Given the description of an element on the screen output the (x, y) to click on. 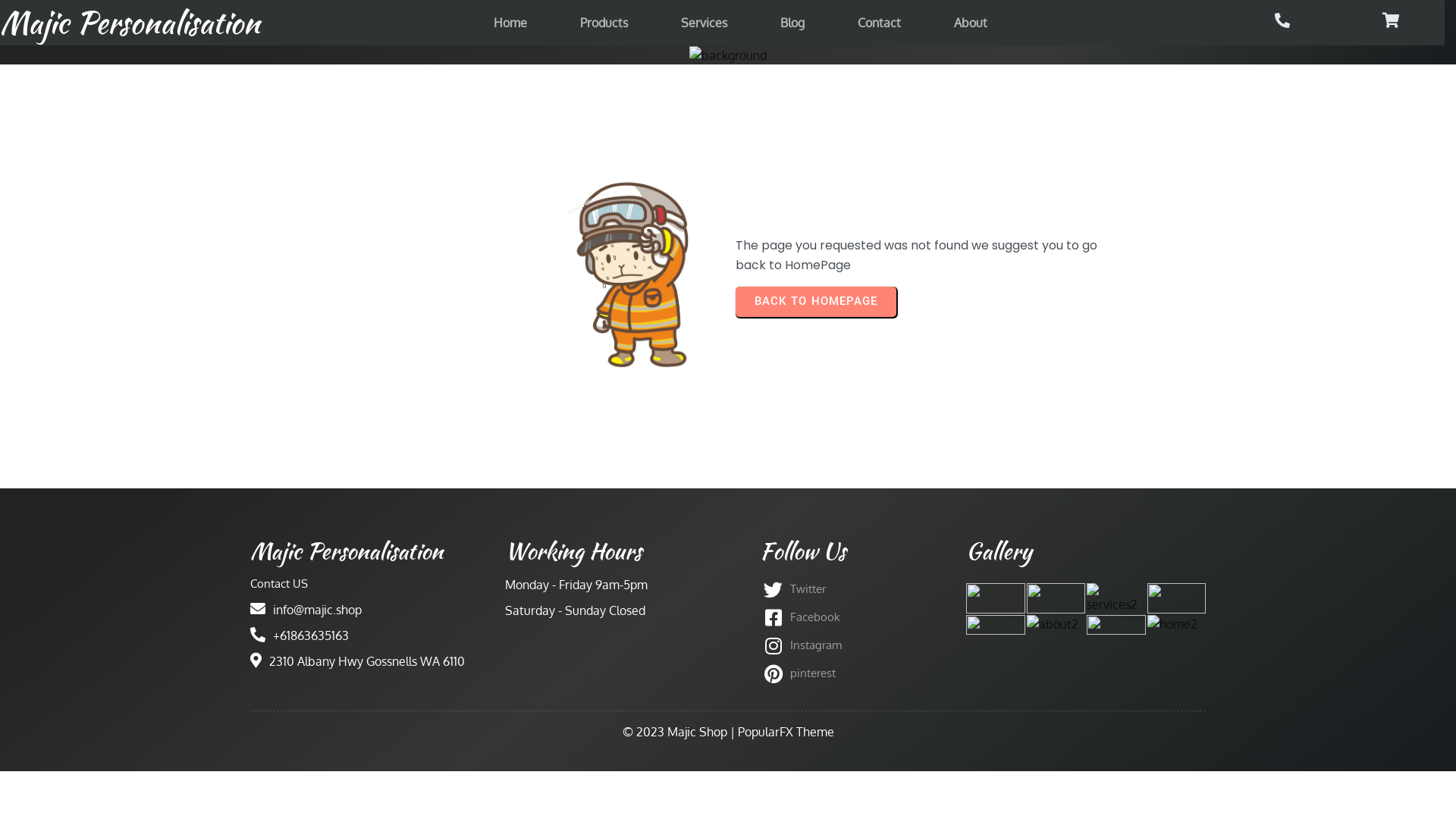
pinterest Element type: text (854, 673)
PopularFX Theme Element type: text (785, 731)
Facebook Element type: text (854, 617)
background Element type: hover (727, 55)
Home Element type: text (510, 22)
about2 Element type: hover (1052, 624)
Products Element type: text (603, 22)
home2 Element type: hover (1171, 624)
Instagram Element type: text (854, 645)
Contact Element type: text (878, 22)
About Element type: text (970, 22)
Majic Personalisation Element type: text (234, 22)
Services Element type: text (703, 22)
Twitter Element type: text (854, 589)
Blog Element type: text (792, 22)
BACK TO HOMEPAGE Element type: text (815, 301)
Majic Personalisation Element type: text (369, 550)
services2 Element type: hover (1115, 598)
